Given the description of an element on the screen output the (x, y) to click on. 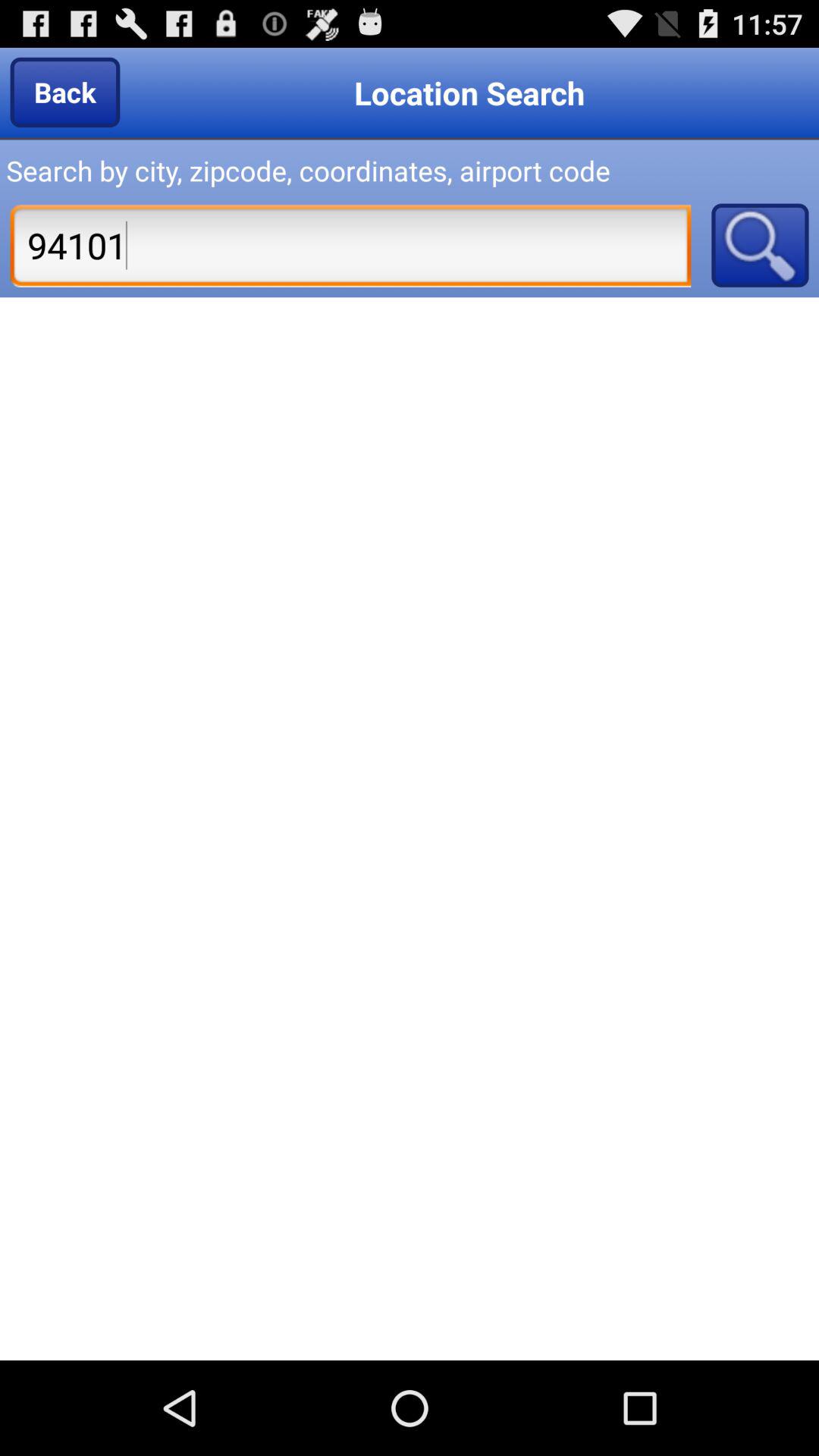
select back button (65, 92)
